Given the description of an element on the screen output the (x, y) to click on. 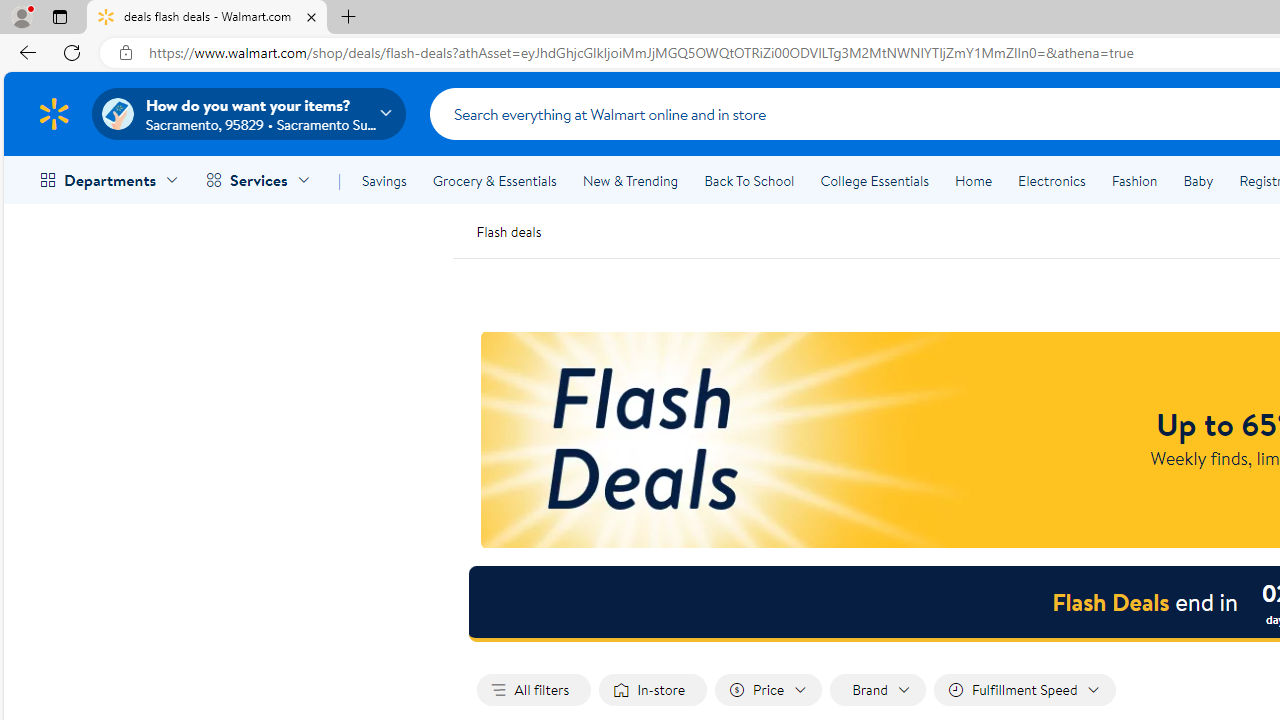
Walmart Homepage (53, 113)
All filters none applied, activate to change (533, 690)
Electronics (1051, 180)
Baby (1197, 180)
Fashion (1134, 180)
Filter by Brand not applied, activate to change (877, 690)
Savings (384, 180)
Filter by Price not applied, activate to change (769, 690)
College Essentials (874, 180)
New & Trending (630, 180)
